Given the description of an element on the screen output the (x, y) to click on. 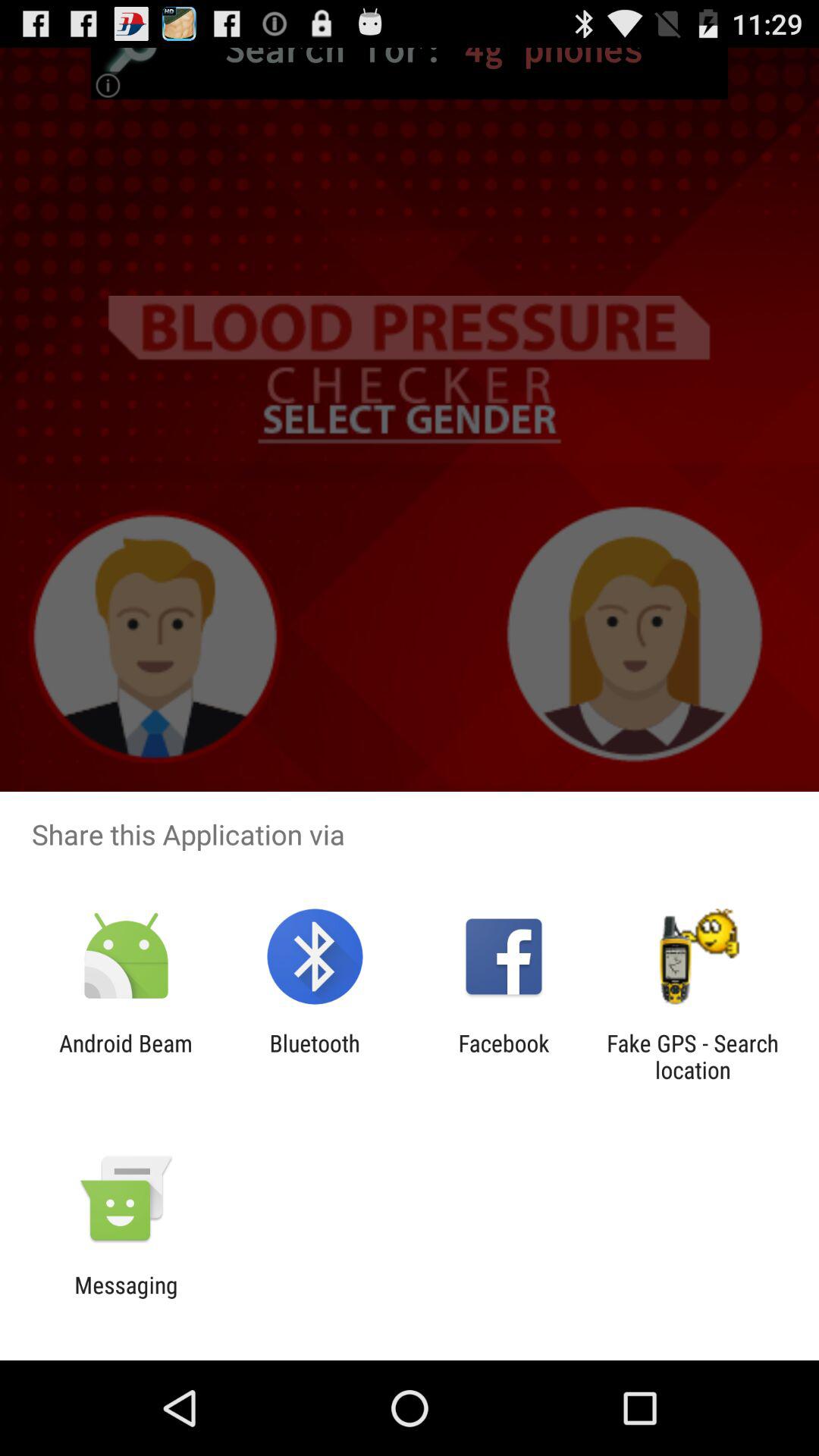
press app to the right of the bluetooth (503, 1056)
